Given the description of an element on the screen output the (x, y) to click on. 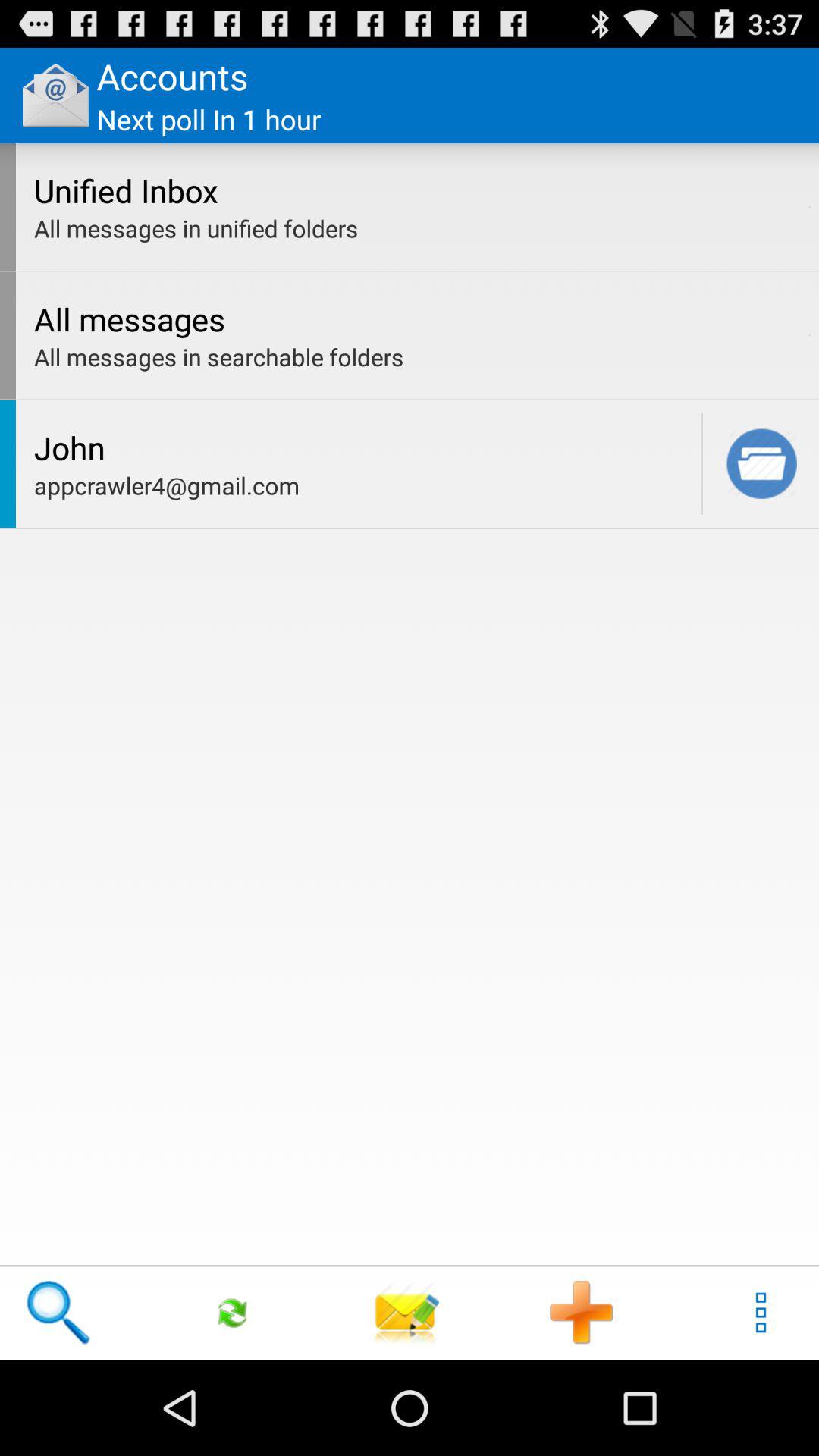
tap the item below all messages in item (809, 335)
